Given the description of an element on the screen output the (x, y) to click on. 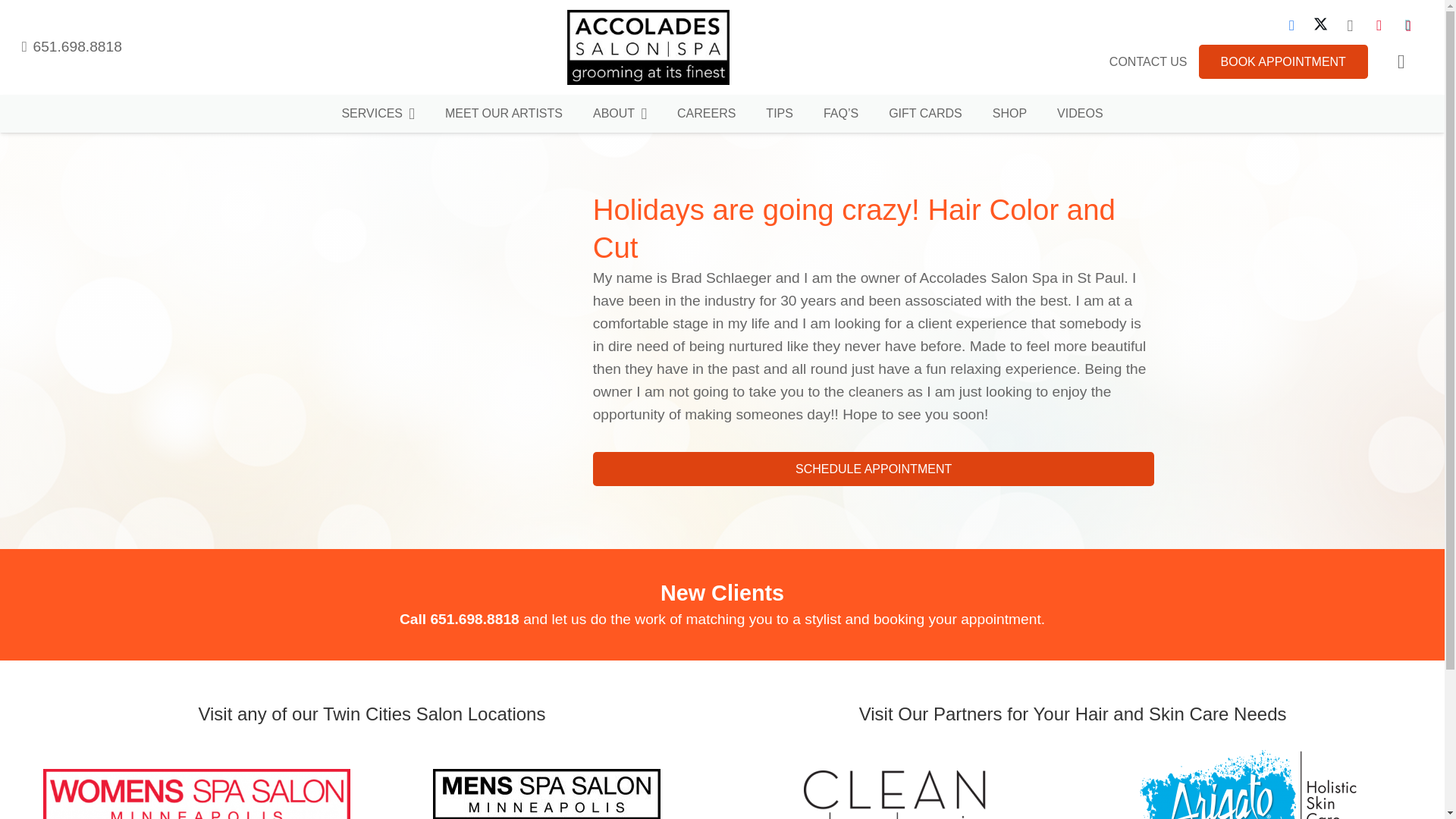
ABOUT (620, 113)
TIPS (779, 113)
MEET OUR ARTISTS (503, 113)
TikTok (1407, 25)
Hair salon and spa services in St. Paul, MN (377, 113)
Pinterest (1378, 25)
BOOK APPOINTMENT (1283, 61)
Instagram (1349, 25)
CONTACT US (1148, 61)
0 (1400, 61)
SERVICES (377, 113)
Facebook (1291, 25)
Twitter (1320, 25)
CAREERS (706, 113)
